Given the description of an element on the screen output the (x, y) to click on. 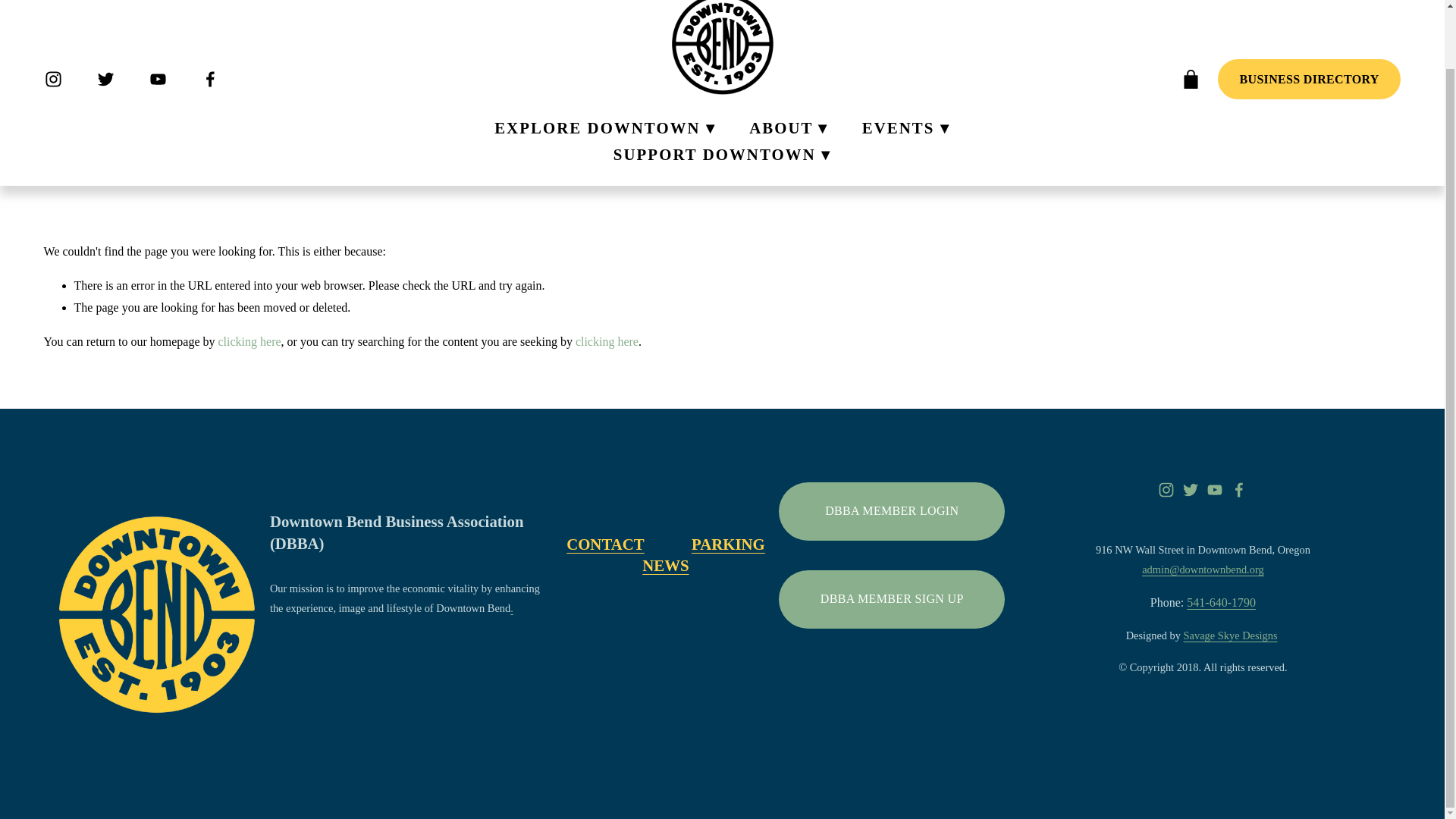
BUSINESS DIRECTORY (1308, 78)
SUPPORT DOWNTOWN (721, 153)
EVENTS (905, 127)
EXPLORE DOWNTOWN (605, 127)
ABOUT (788, 127)
